Given the description of an element on the screen output the (x, y) to click on. 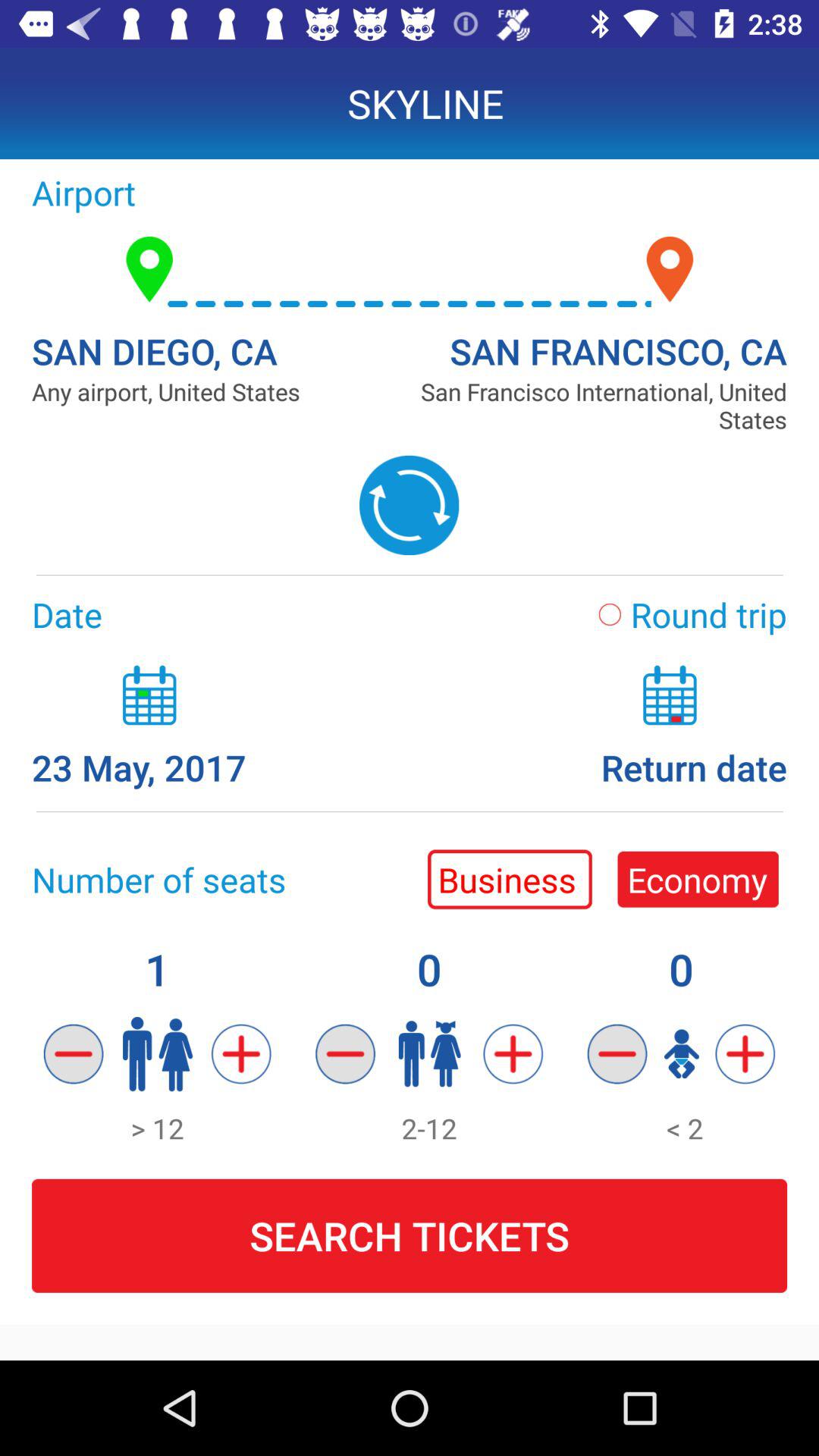
click on the calendar icon above 23 may 2017 (149, 695)
click on search tickets (409, 1235)
click on round trip button (683, 614)
click on second  symbol from left (513, 1054)
click on the icon below the economy (617, 1054)
